Given the description of an element on the screen output the (x, y) to click on. 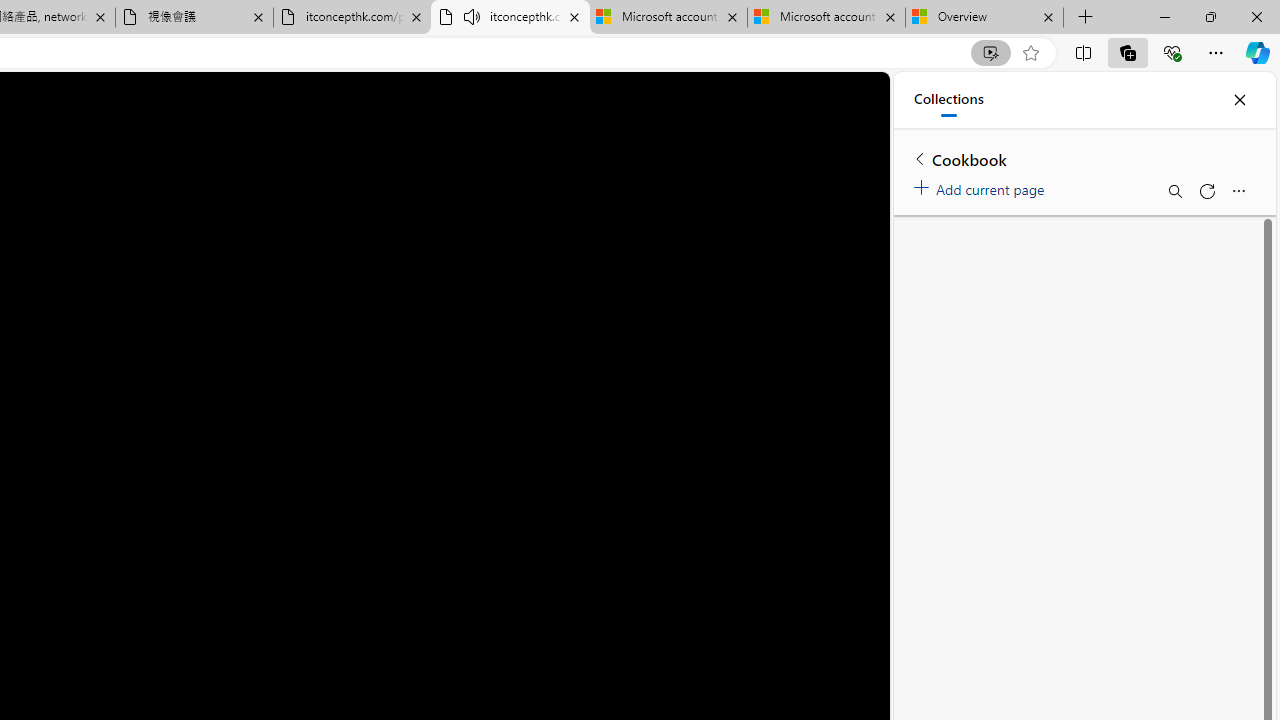
Add current page (982, 186)
Overview (984, 17)
itconcepthk.com/projector_solutions.mp4 - Audio playing (509, 17)
